Given the description of an element on the screen output the (x, y) to click on. 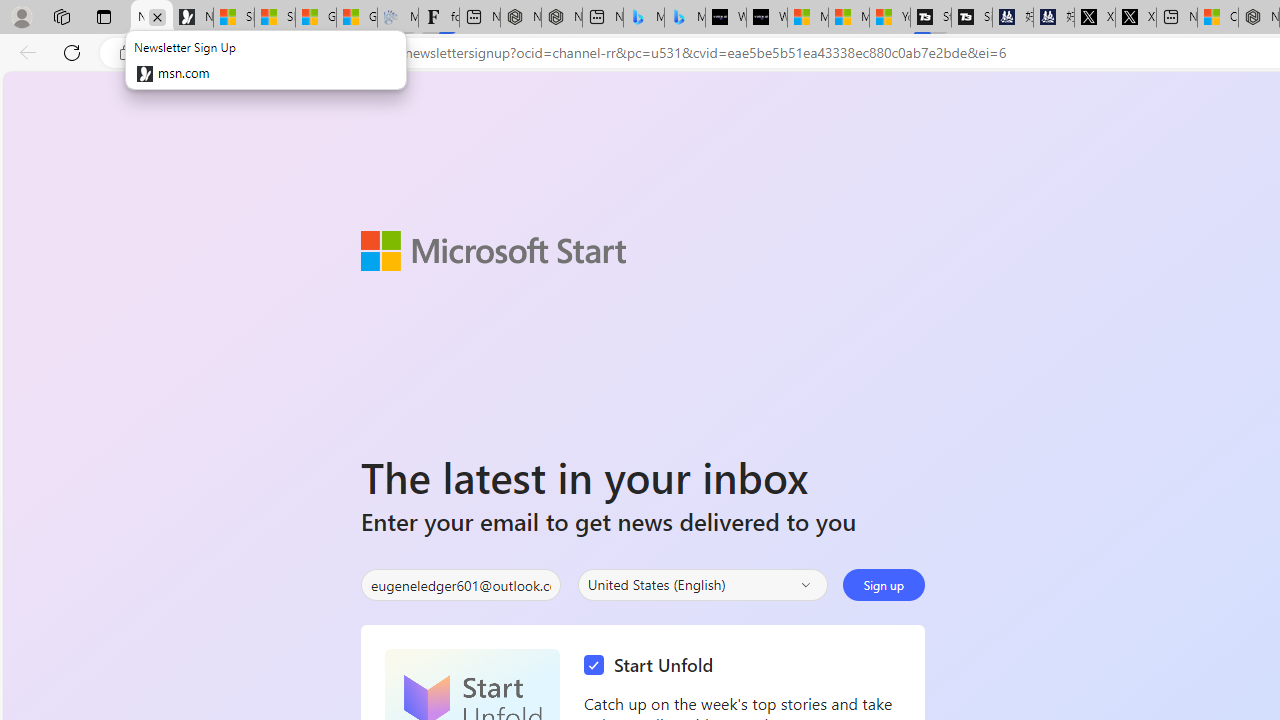
Sign up (883, 584)
